Given the description of an element on the screen output the (x, y) to click on. 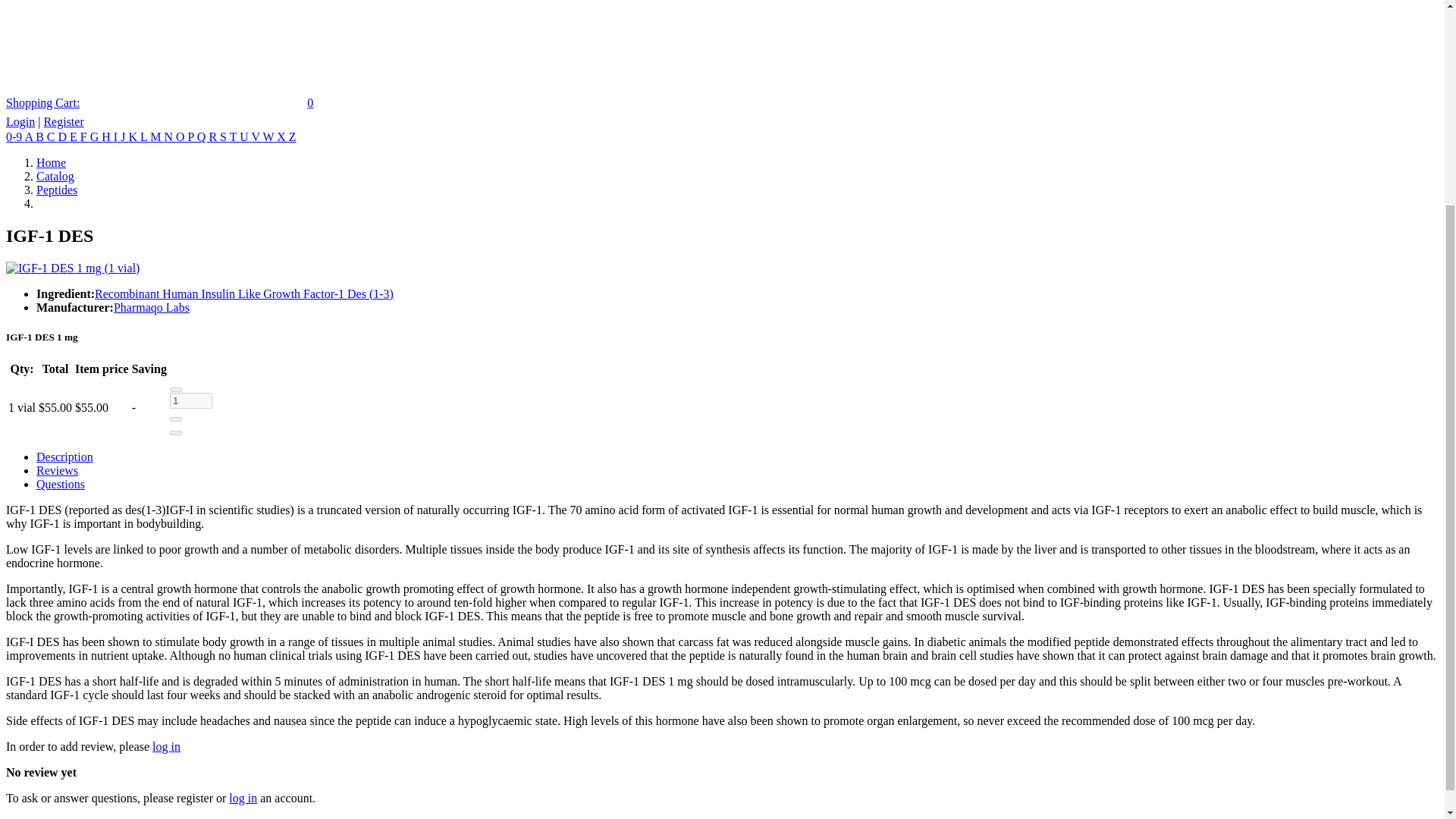
0-9 (14, 136)
G (95, 136)
W (269, 136)
D (63, 136)
Products 46 (169, 136)
Products 26 (181, 136)
Products 7 (14, 136)
Products 82 (95, 136)
Q (202, 136)
K (133, 136)
